Given the description of an element on the screen output the (x, y) to click on. 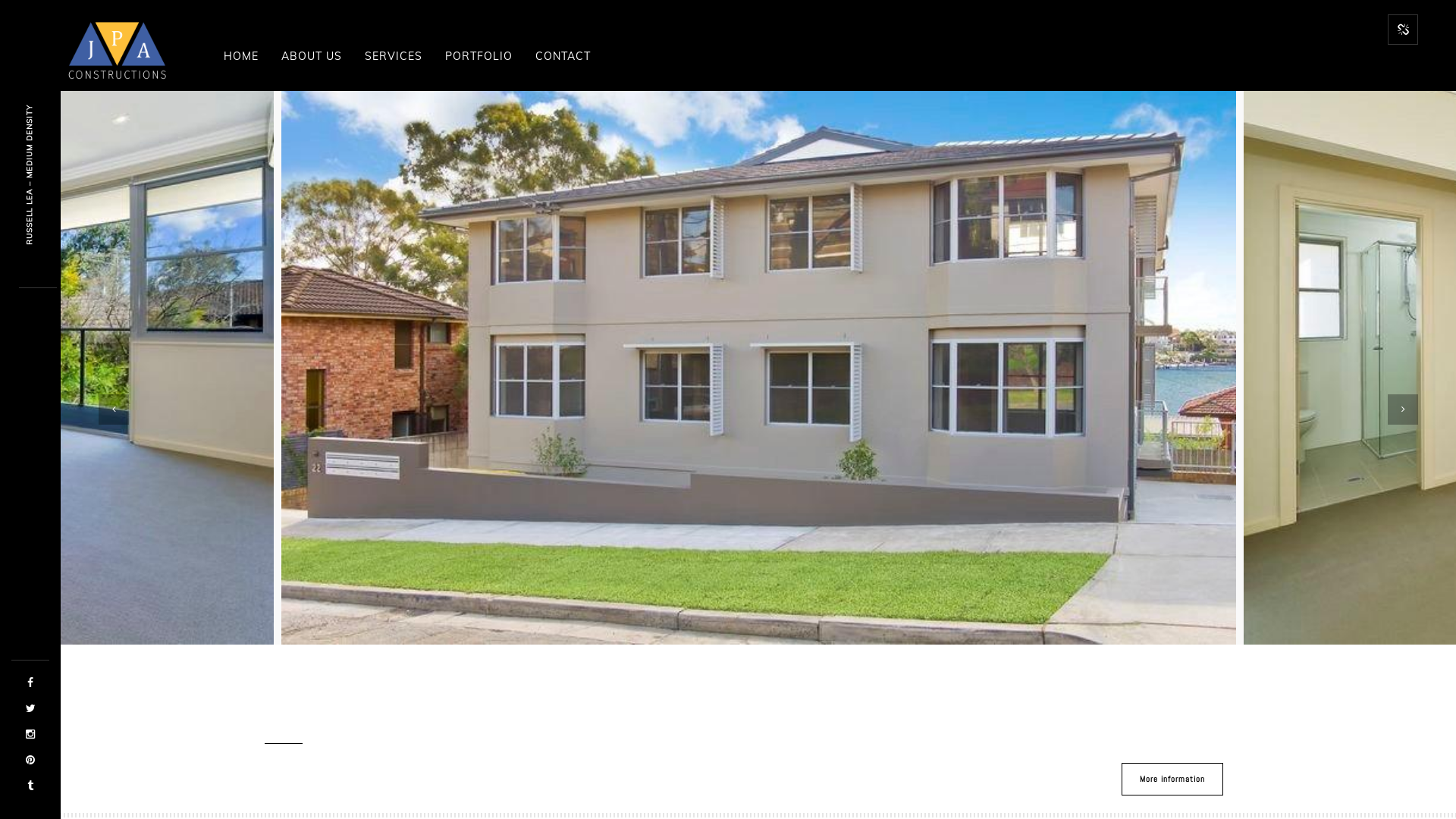
HOME Element type: text (240, 56)
SERVICES Element type: text (393, 56)
CONTACT Element type: text (563, 56)
ABOUT US Element type: text (311, 56)
More information Element type: text (1172, 778)
PORTFOLIO Element type: text (478, 56)
